Given the description of an element on the screen output the (x, y) to click on. 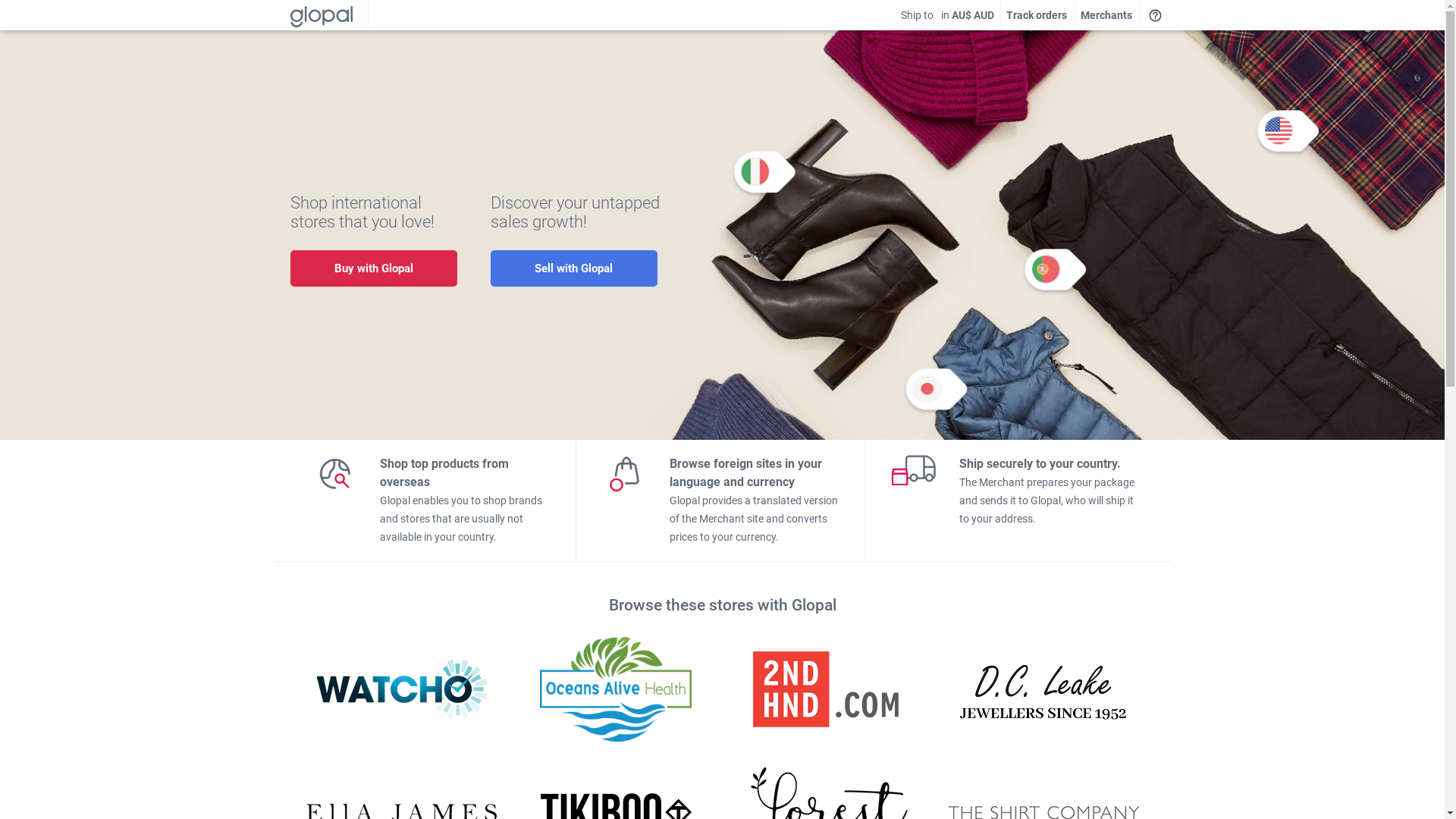
Track orders Element type: text (1035, 14)
Buy with Glopal Element type: text (372, 268)
Sell with Glopal Element type: text (572, 268)
Merchants Element type: text (1105, 15)
